Given the description of an element on the screen output the (x, y) to click on. 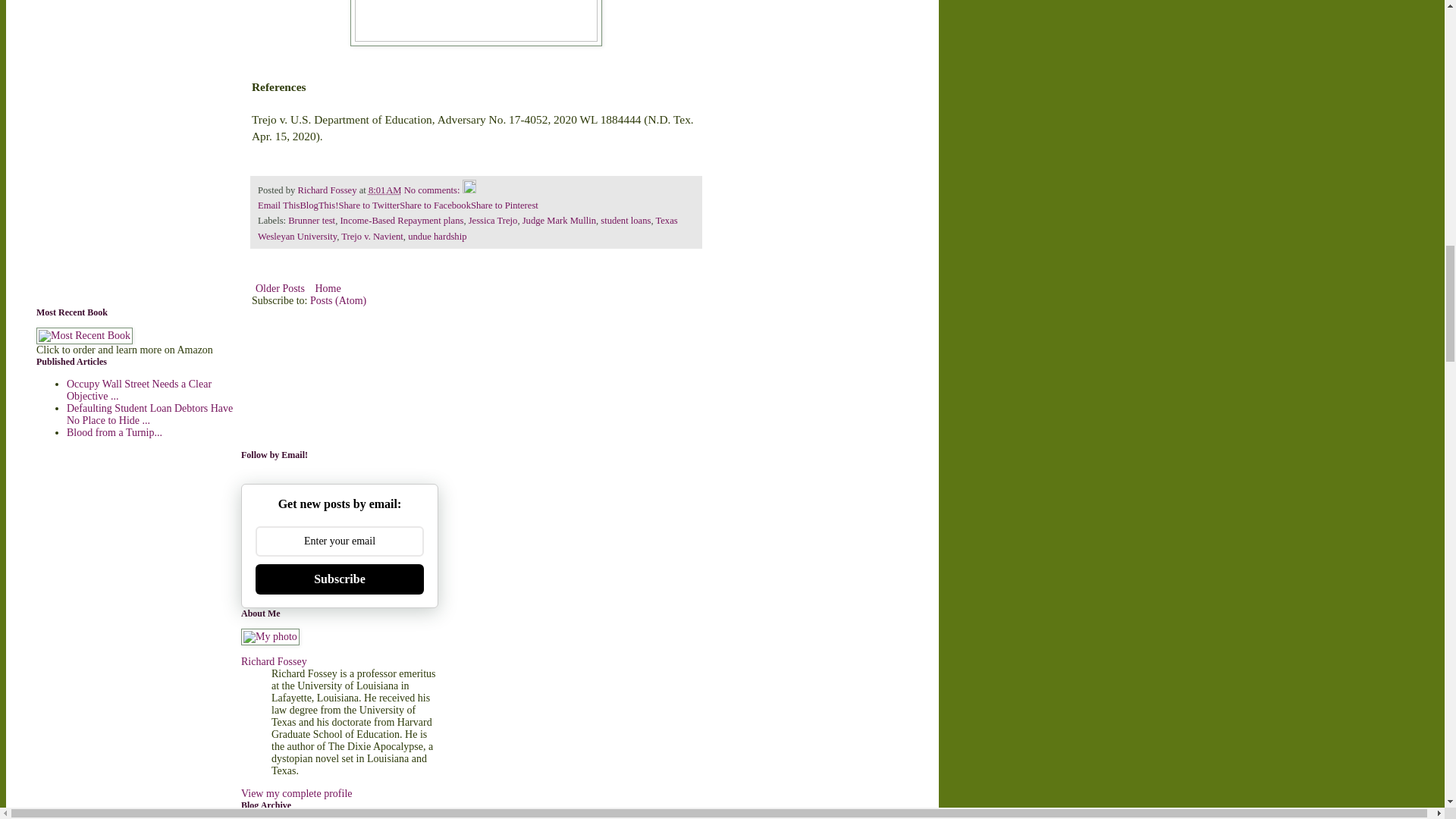
Occupy Wall Street Needs a Clear Objective ... (138, 390)
undue hardship (436, 235)
Share to Pinterest (504, 204)
Richard Fossey (327, 190)
BlogThis! (318, 204)
Home (327, 288)
Share to Facebook (434, 204)
Share to Twitter (367, 204)
Income-Based Repayment plans (401, 220)
student loans (624, 220)
Subscribe (339, 579)
Jessica Trejo (493, 220)
Defaulting Student Loan Debtors Have No Place to Hide ... (149, 413)
Email This (278, 204)
Texas Wesleyan University (467, 227)
